Given the description of an element on the screen output the (x, y) to click on. 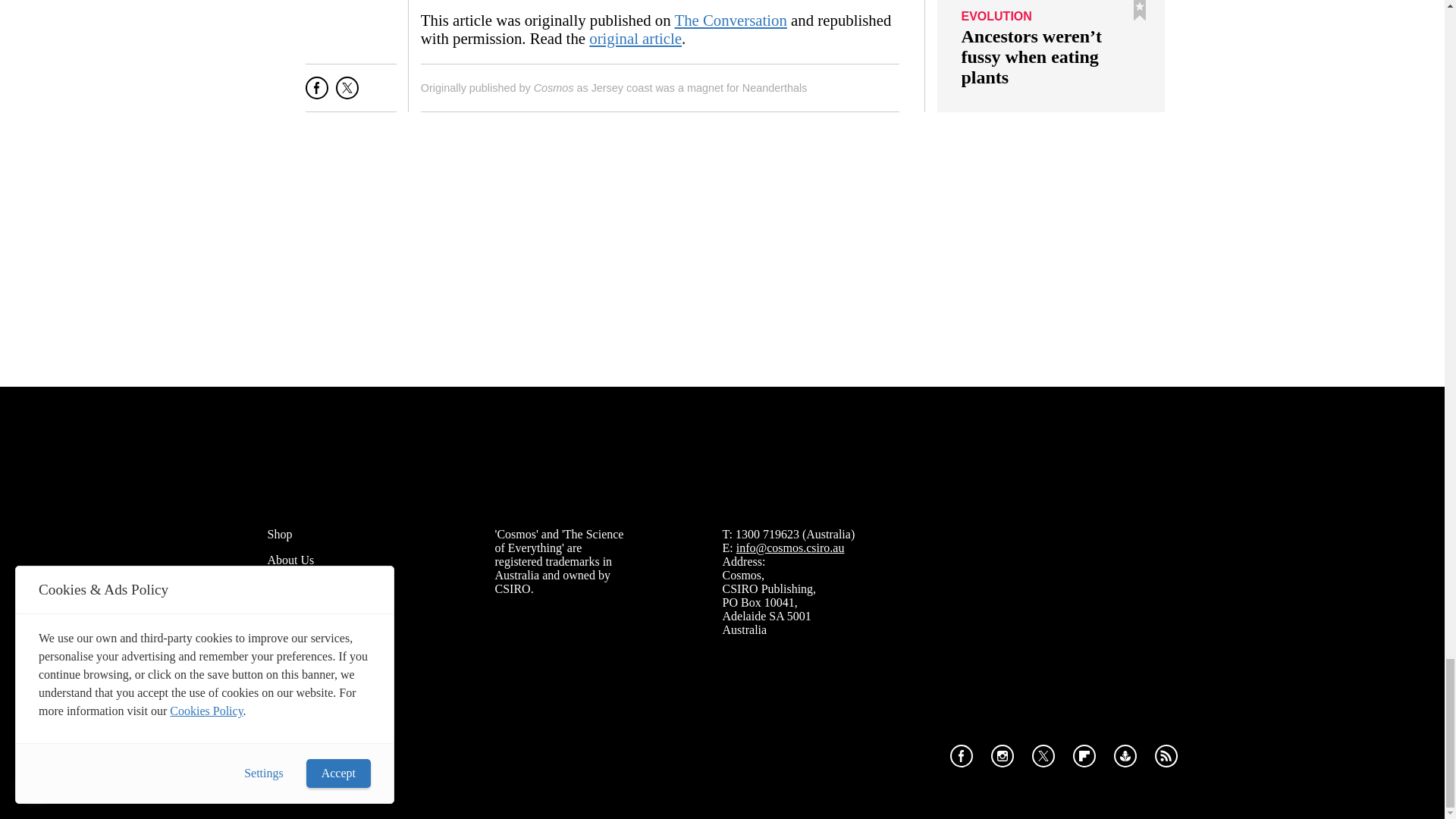
Share on Facebook (317, 93)
Tweet (347, 93)
Jersey coast was a magnet for Neanderthals (699, 87)
